Given the description of an element on the screen output the (x, y) to click on. 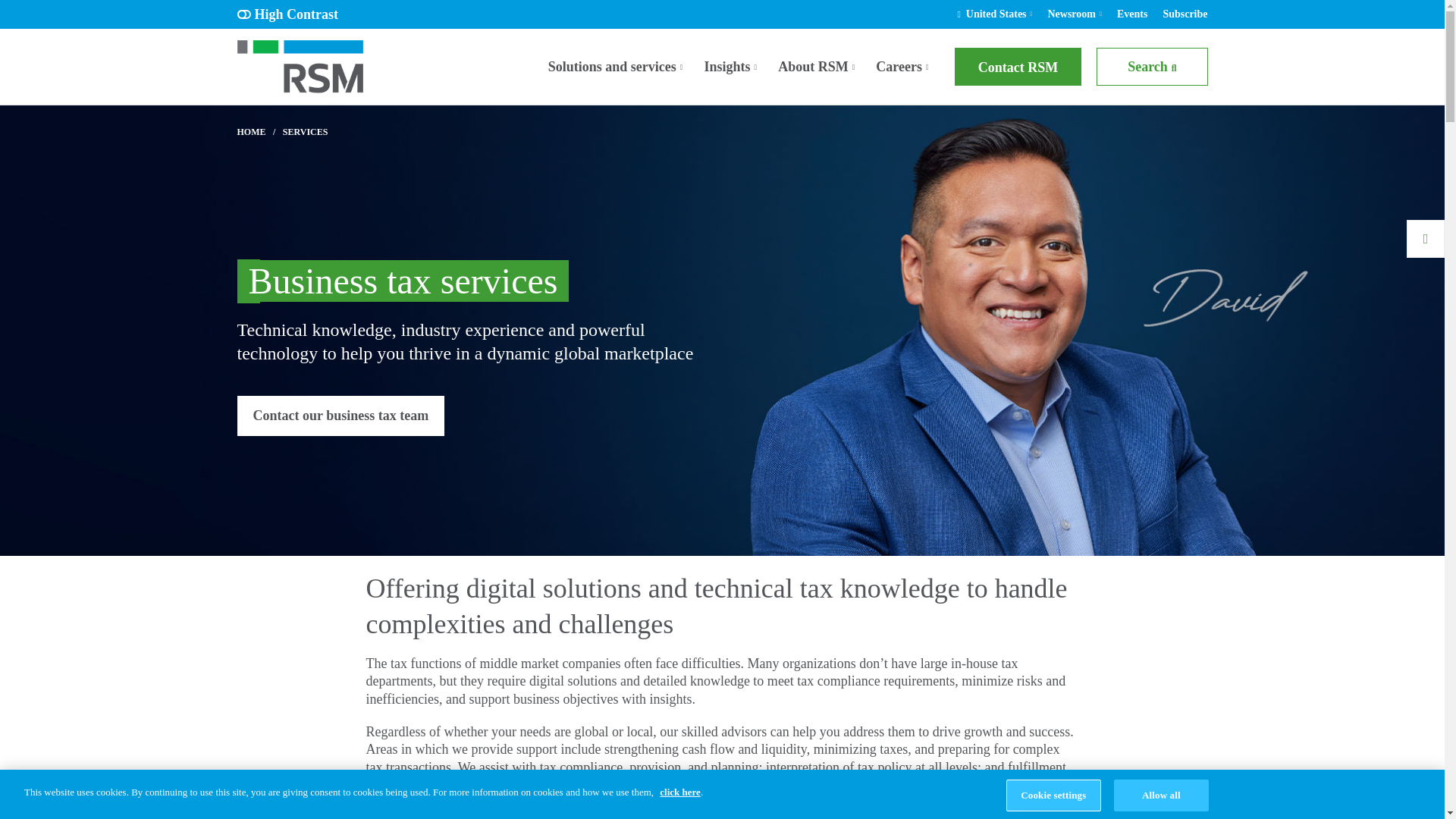
Newsroom (1071, 14)
Events (1131, 14)
Subscribe (1184, 14)
